Given the description of an element on the screen output the (x, y) to click on. 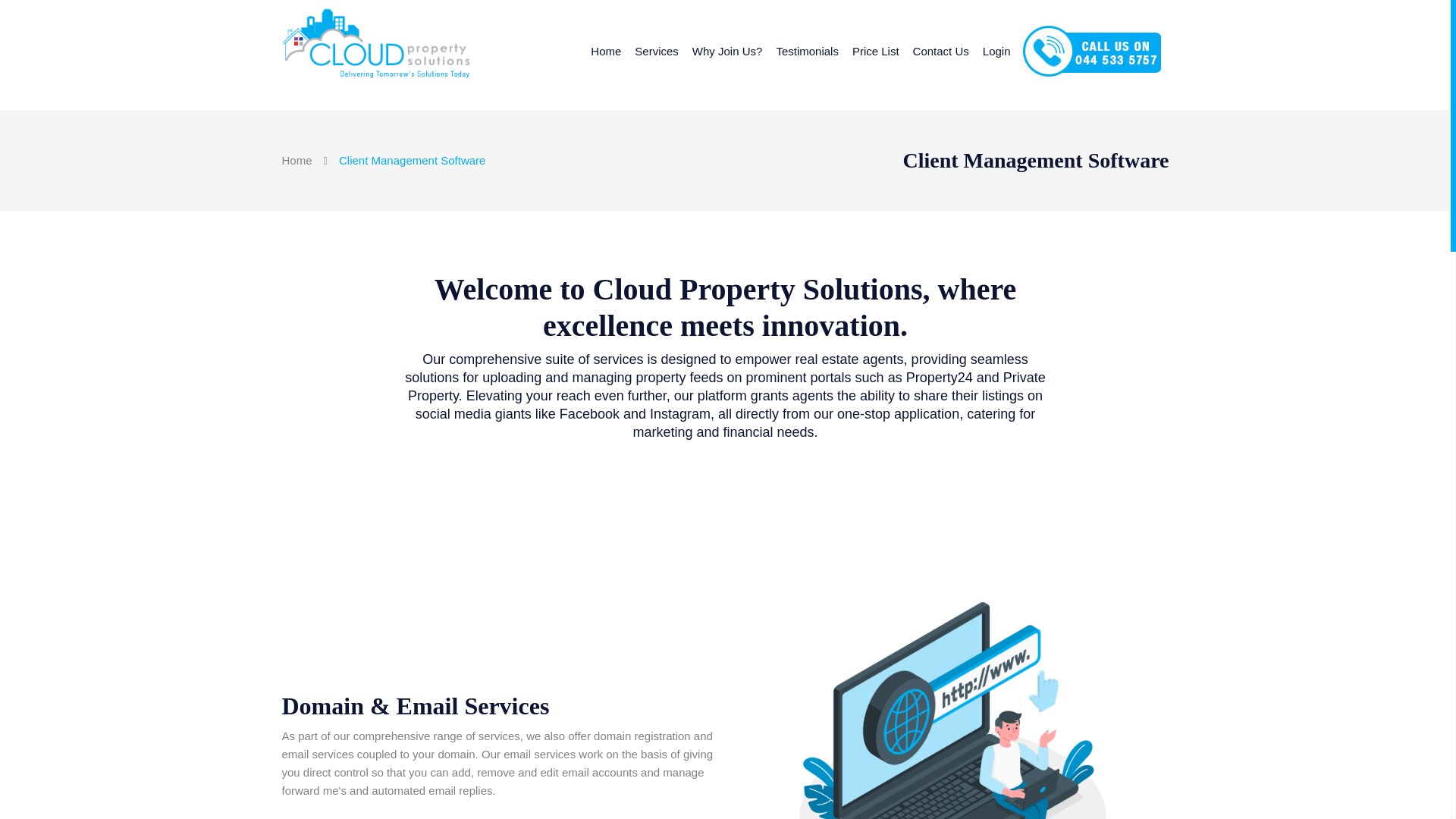
Home (605, 51)
Login (996, 51)
Testimonials (806, 51)
Contact Us (940, 51)
Price List (875, 51)
Home (297, 160)
Services (656, 51)
Why Join Us? (727, 51)
